Given the description of an element on the screen output the (x, y) to click on. 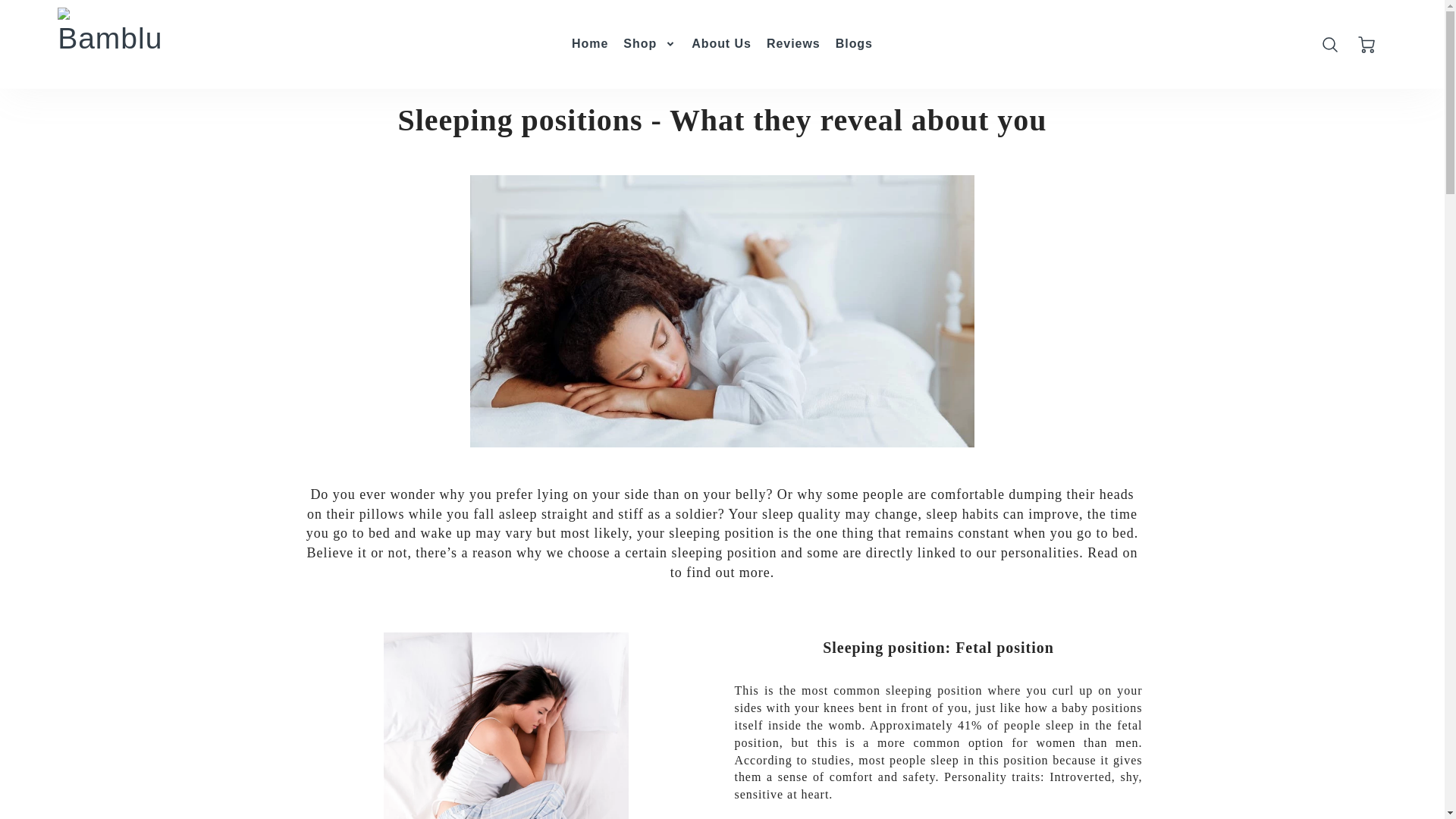
Home (590, 44)
Cart (1368, 44)
Blogs (853, 44)
About Us (721, 44)
Reviews (794, 44)
Shop (650, 44)
